Given the description of an element on the screen output the (x, y) to click on. 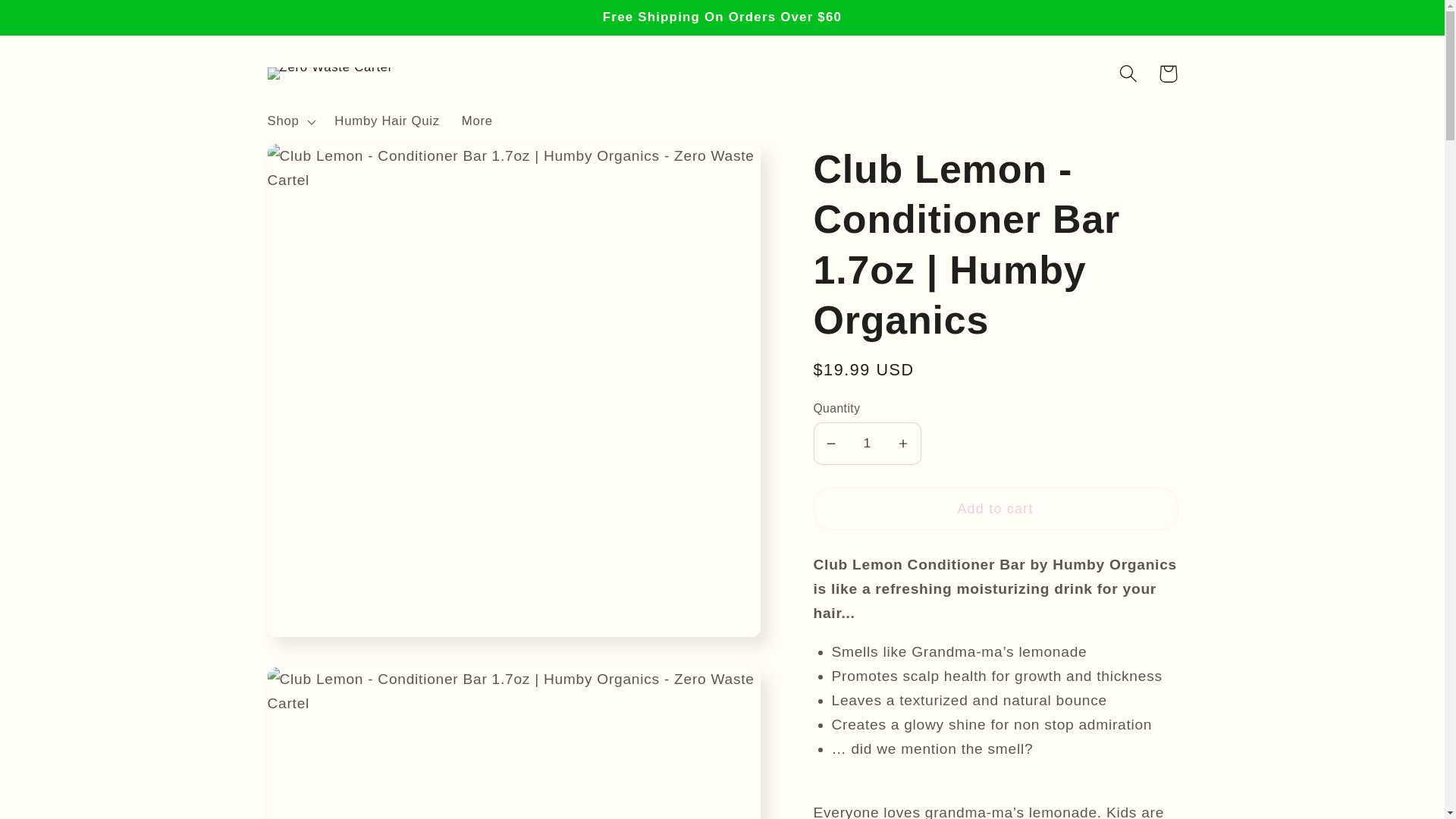
More (476, 121)
Cart (1168, 74)
Skip to product information (321, 164)
Skip to content (55, 20)
1 (866, 443)
Humby Hair Quiz (386, 121)
